Given the description of an element on the screen output the (x, y) to click on. 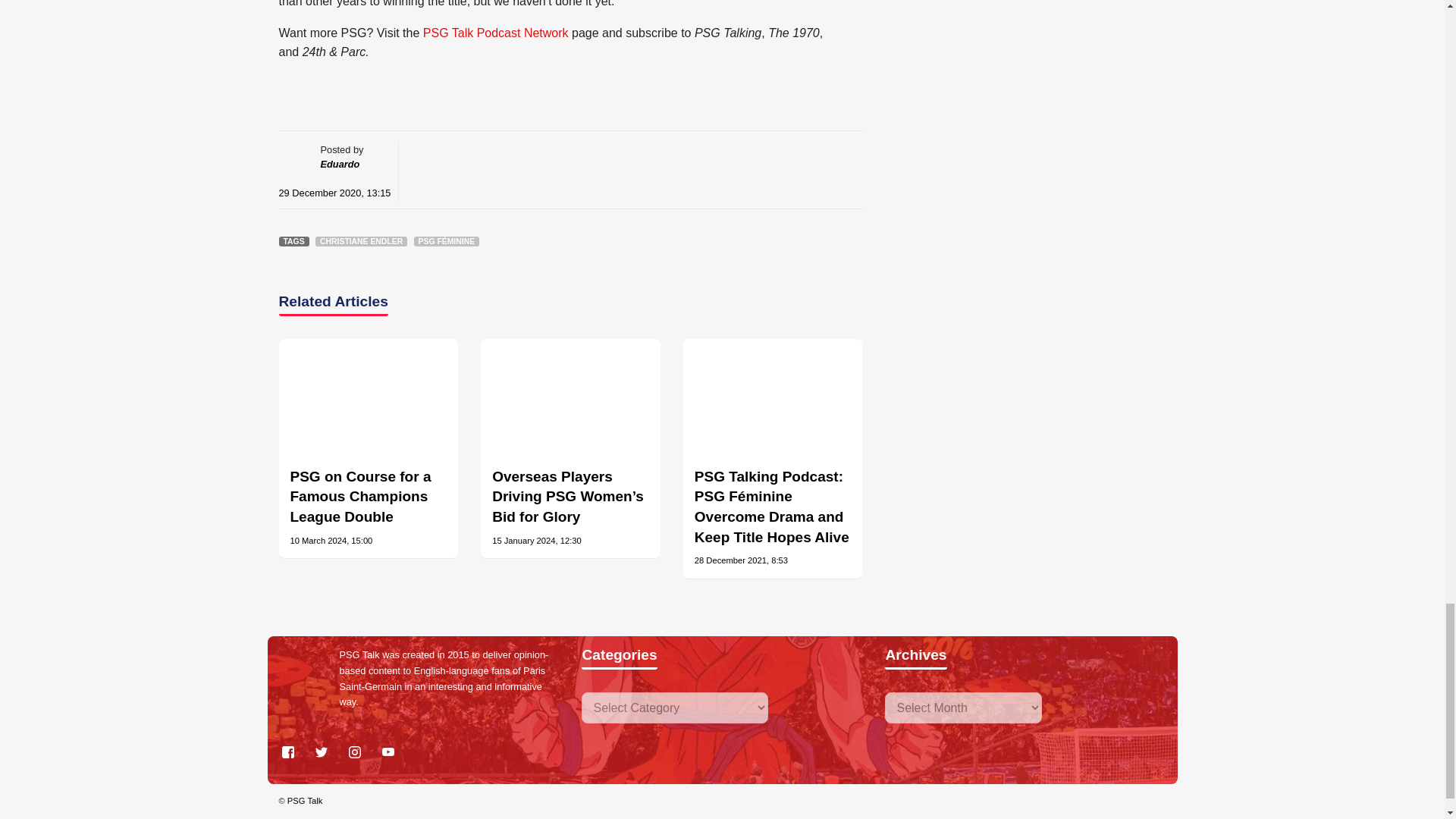
PSG Talk Podcast Network (496, 32)
